Given the description of an element on the screen output the (x, y) to click on. 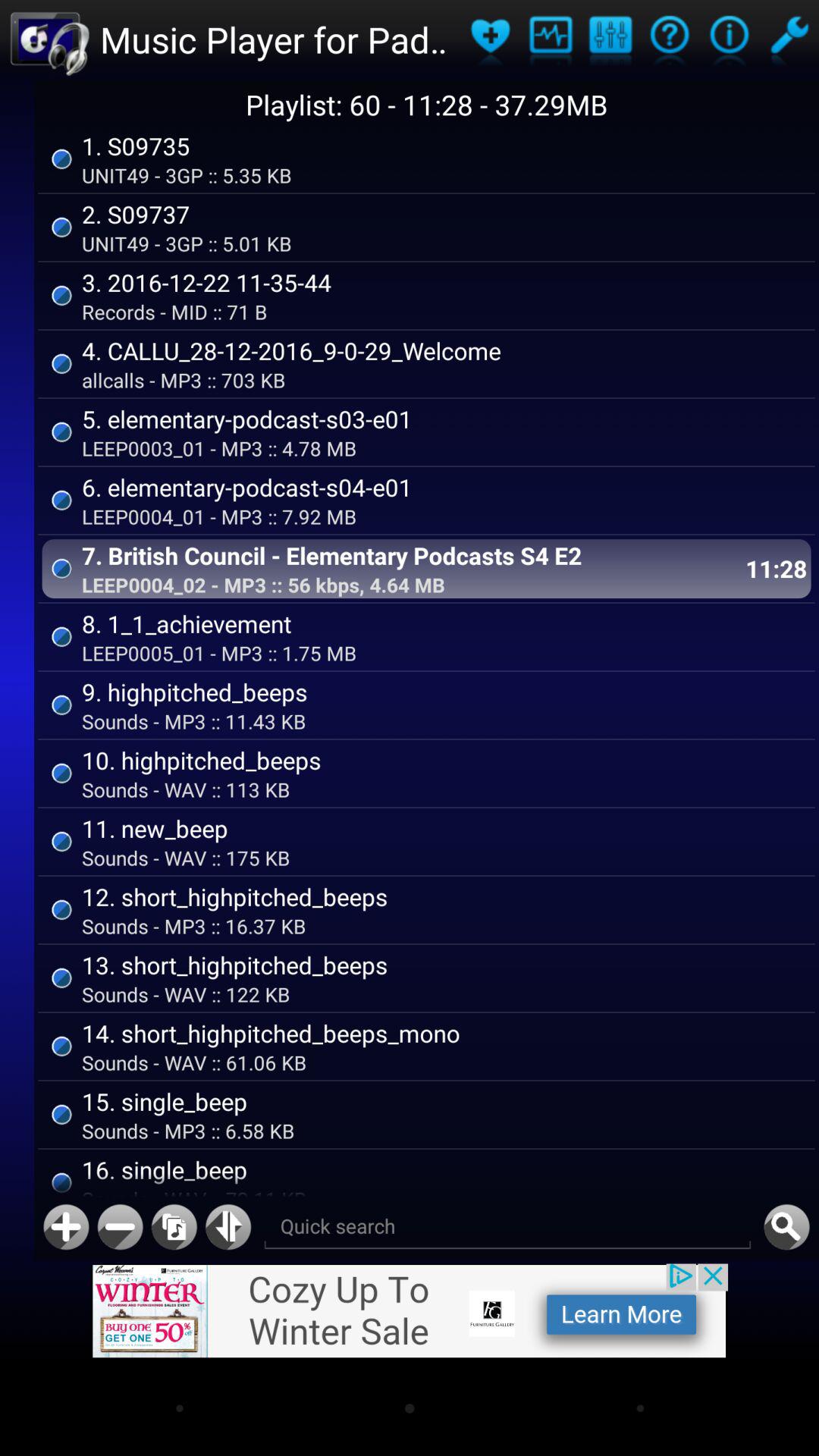
details (729, 39)
